Given the description of an element on the screen output the (x, y) to click on. 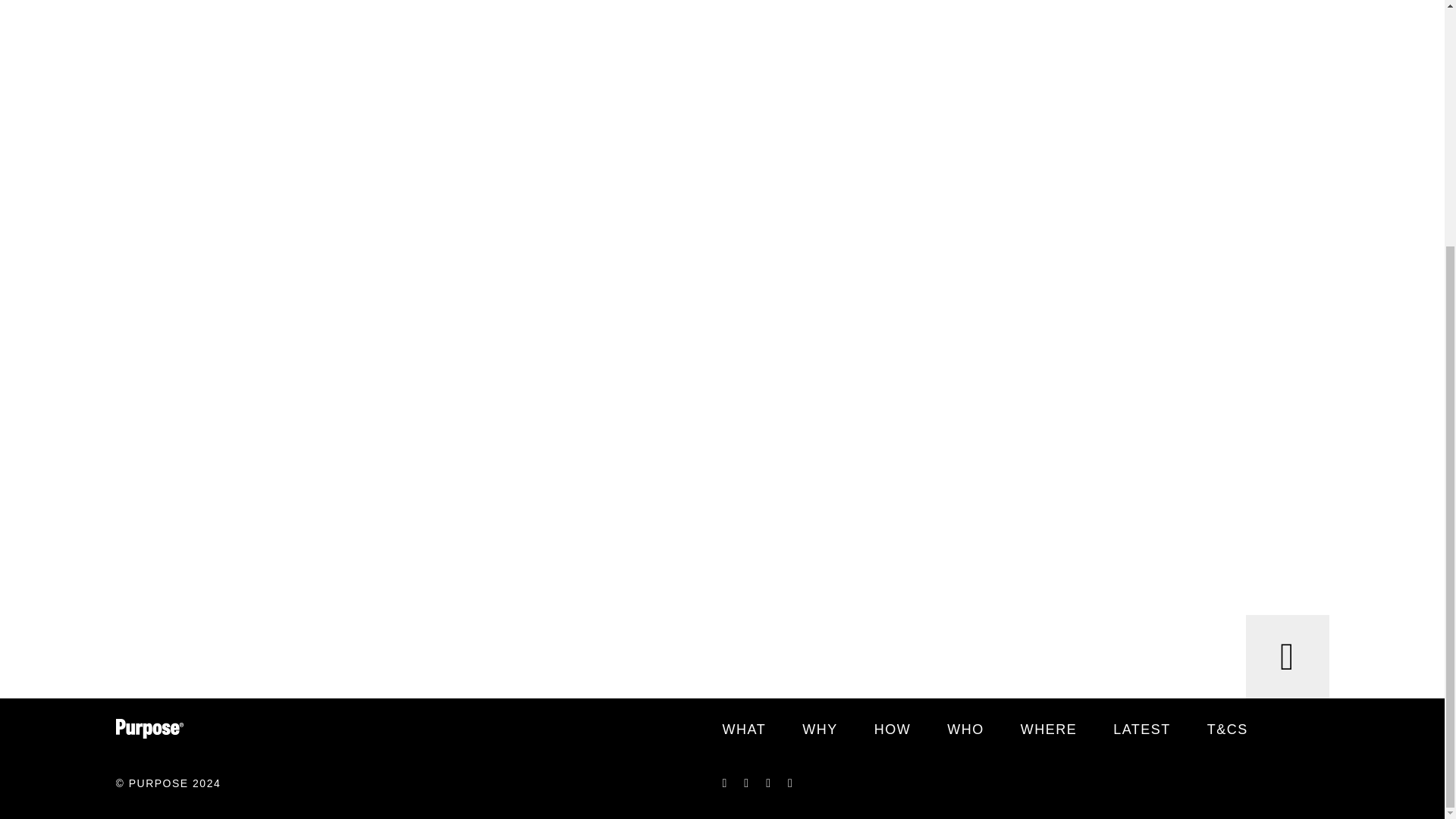
WHY (820, 730)
WHERE (1048, 730)
LATEST (1141, 730)
WHO (965, 730)
HOW (893, 730)
WHAT (743, 730)
